Given the description of an element on the screen output the (x, y) to click on. 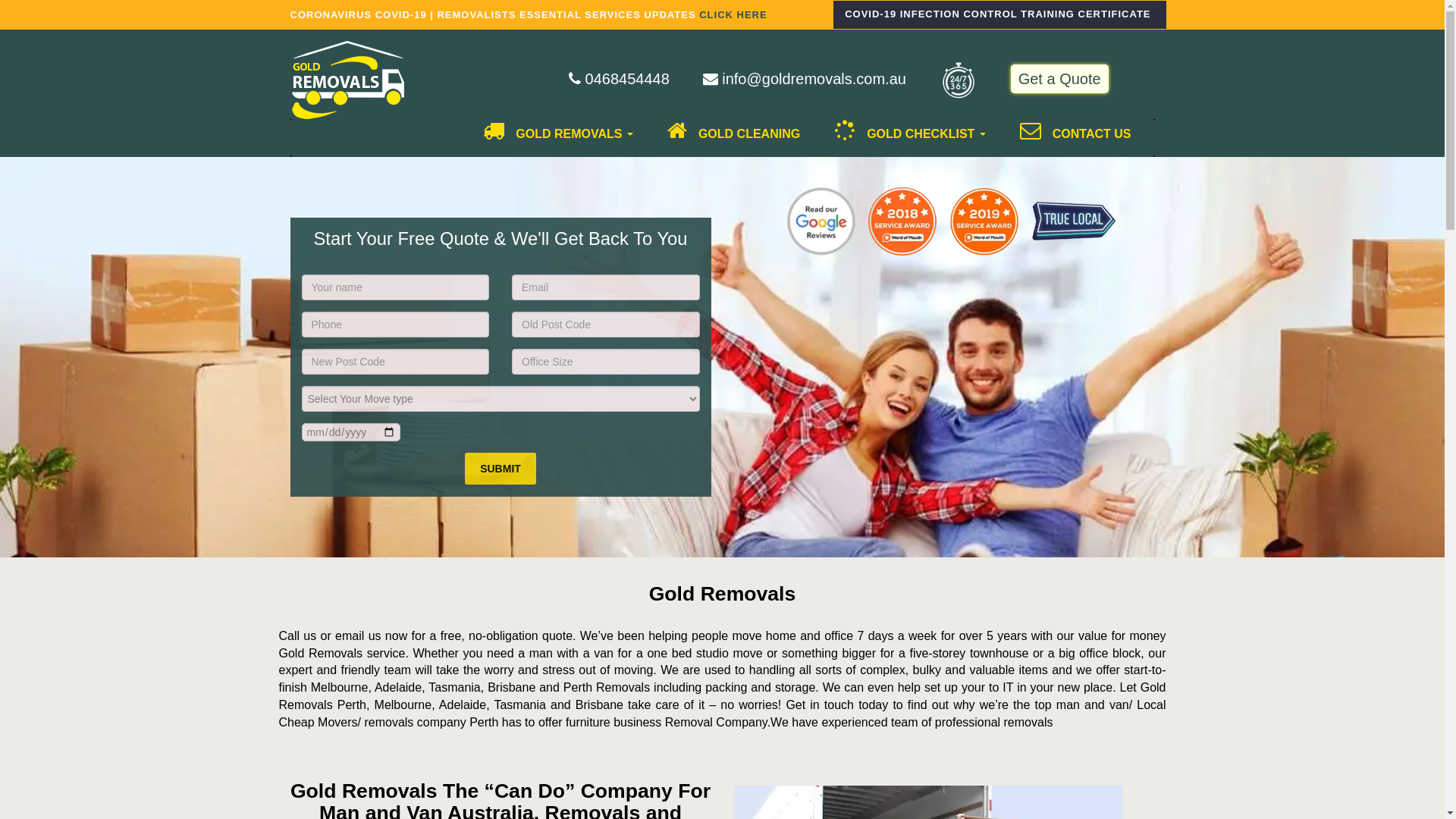
COVID-19 INFECTION CONTROL TRAINING CERTIFICATE Element type: text (999, 14)
CONTACT US Element type: text (1069, 137)
Get a Quote Element type: text (1059, 80)
0468454448 Element type: text (618, 78)
info@goldremovals.com.au Element type: text (804, 78)
Get a Quote Element type: text (1059, 79)
GOLD CHECKLIST Element type: text (904, 137)
GOLD REMOVALS Element type: text (552, 137)
SUBMIT Element type: text (500, 468)
GOLD CLEANING Element type: text (727, 137)
